Given the description of an element on the screen output the (x, y) to click on. 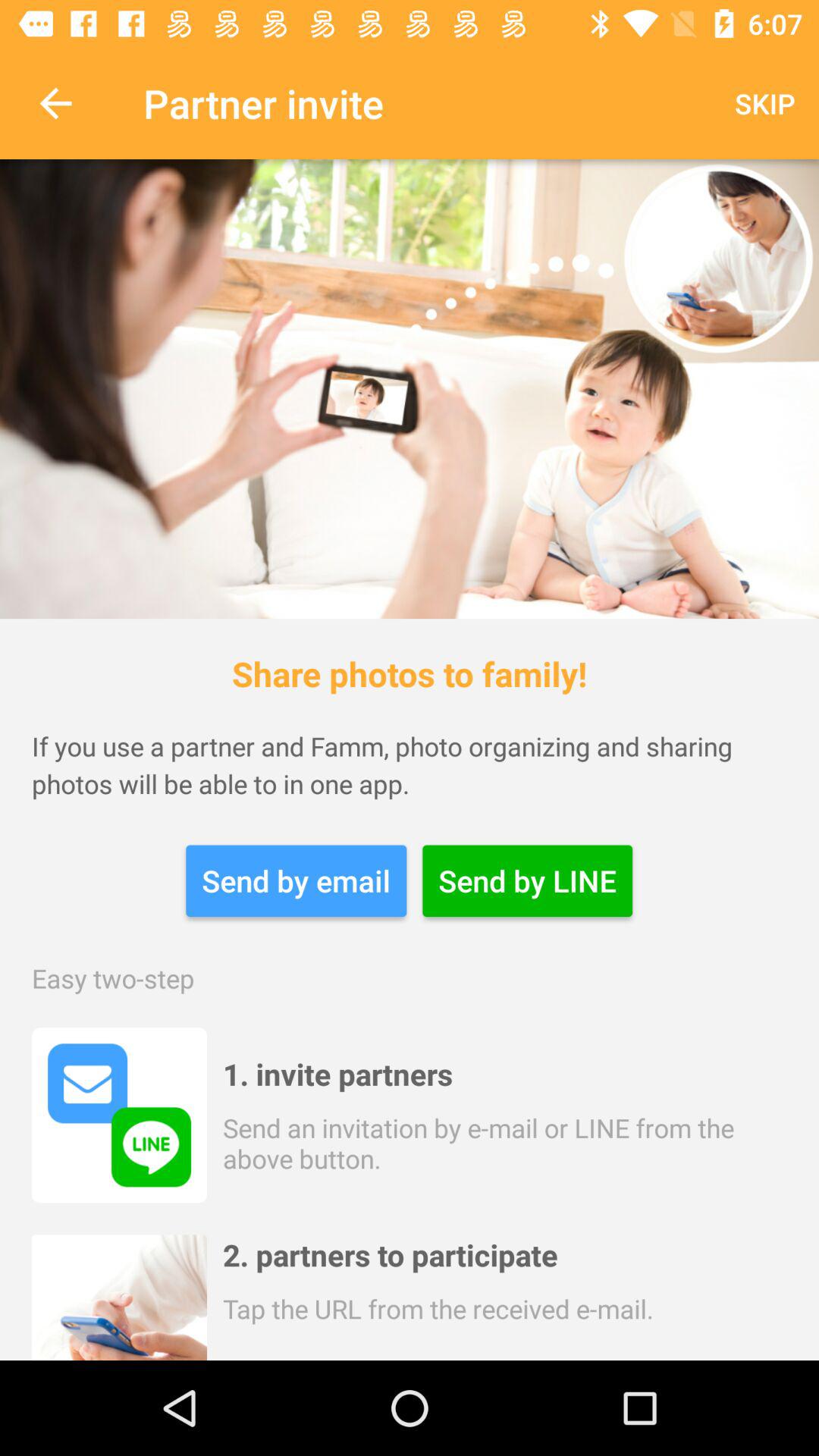
flip until the skip item (764, 103)
